Given the description of an element on the screen output the (x, y) to click on. 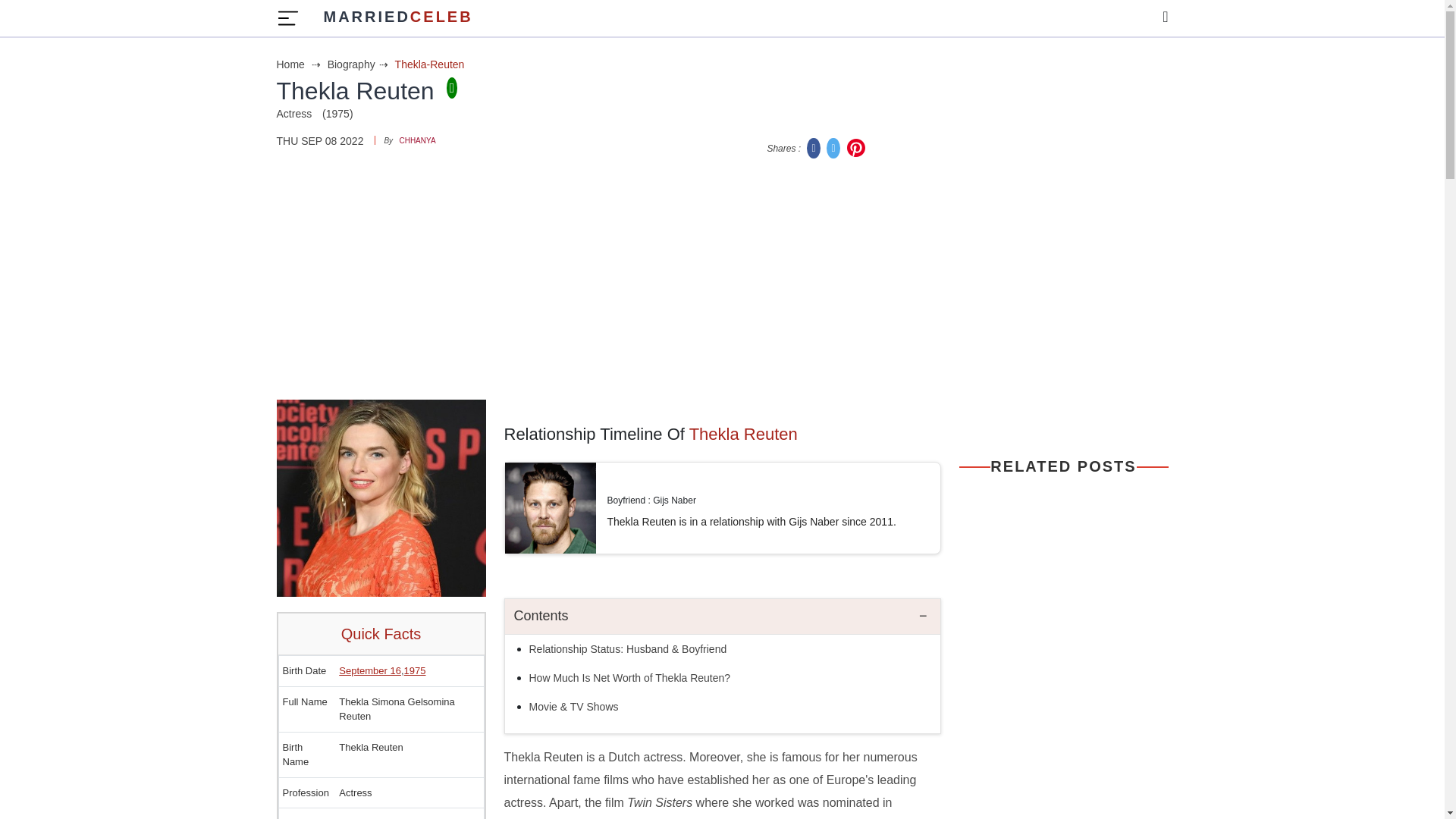
Home (299, 64)
Biography (359, 64)
CHHANYA (416, 140)
Twitter (397, 18)
Facebook (835, 147)
Dutch (814, 147)
1975 (352, 818)
September 16 (415, 670)
Contents (370, 670)
